Given the description of an element on the screen output the (x, y) to click on. 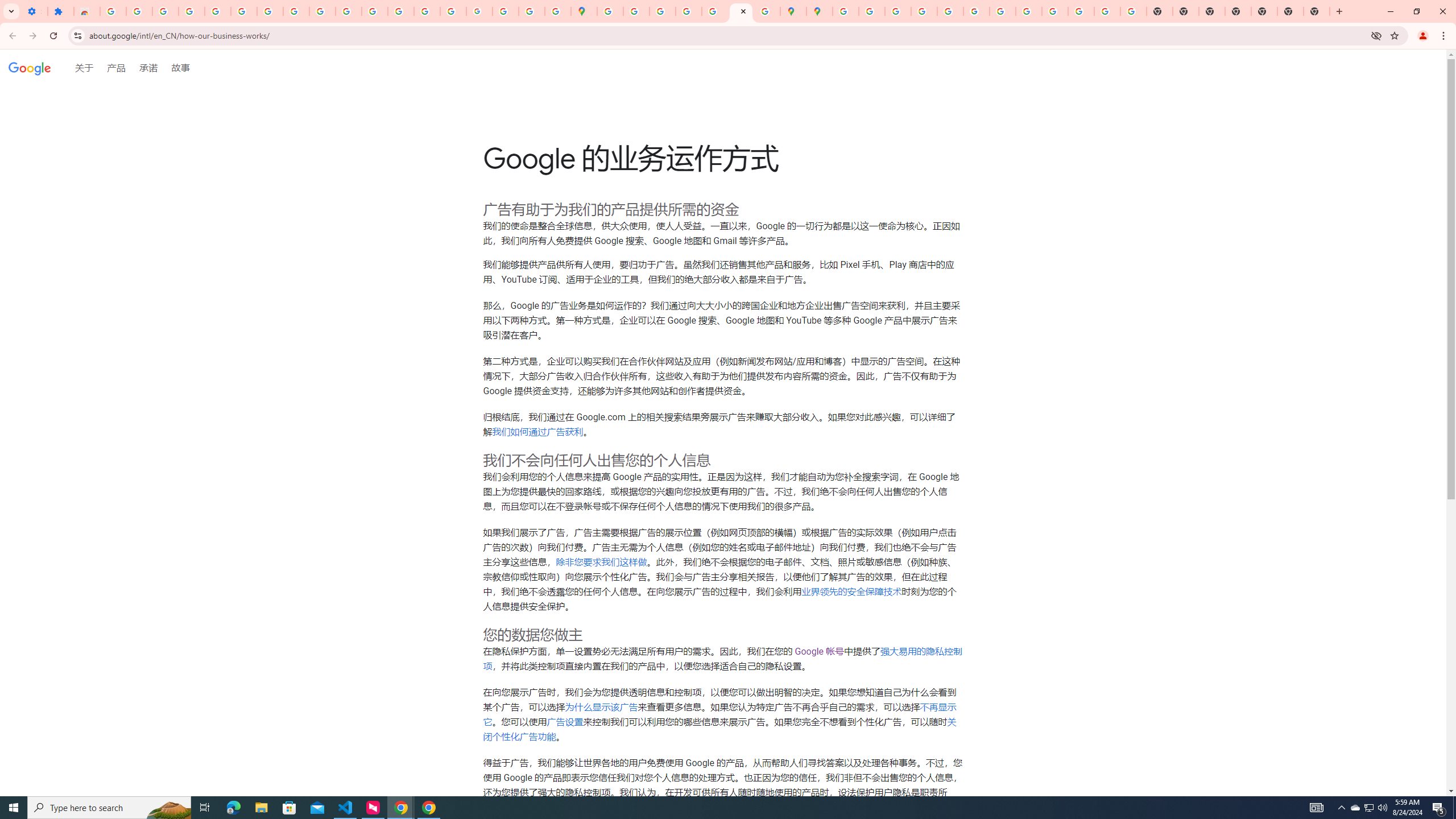
Sign in - Google Accounts (112, 11)
Privacy Help Center - Policies Help (923, 11)
Create your Google Account (663, 11)
